Given the description of an element on the screen output the (x, y) to click on. 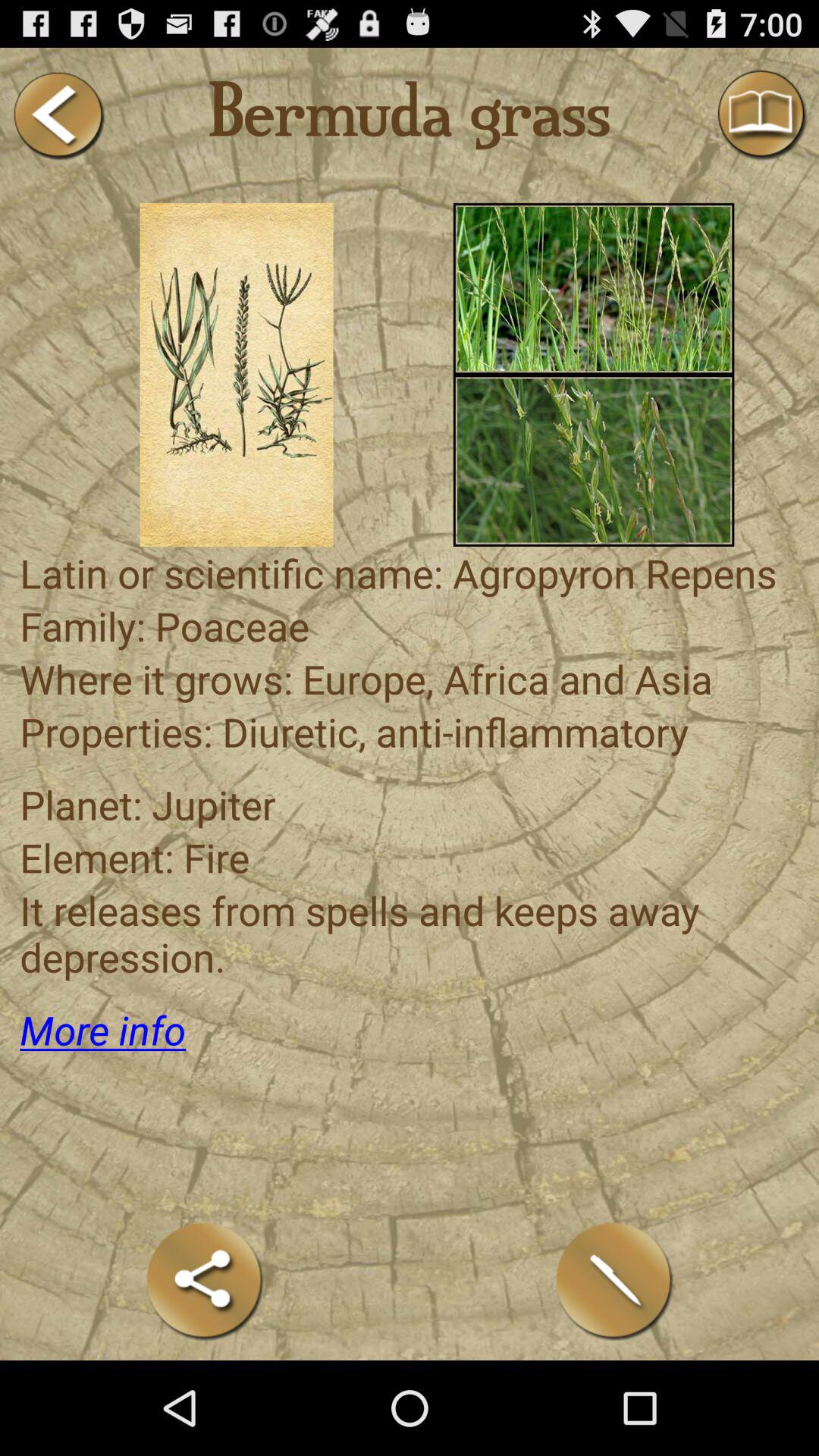
shows image (236, 374)
